Given the description of an element on the screen output the (x, y) to click on. 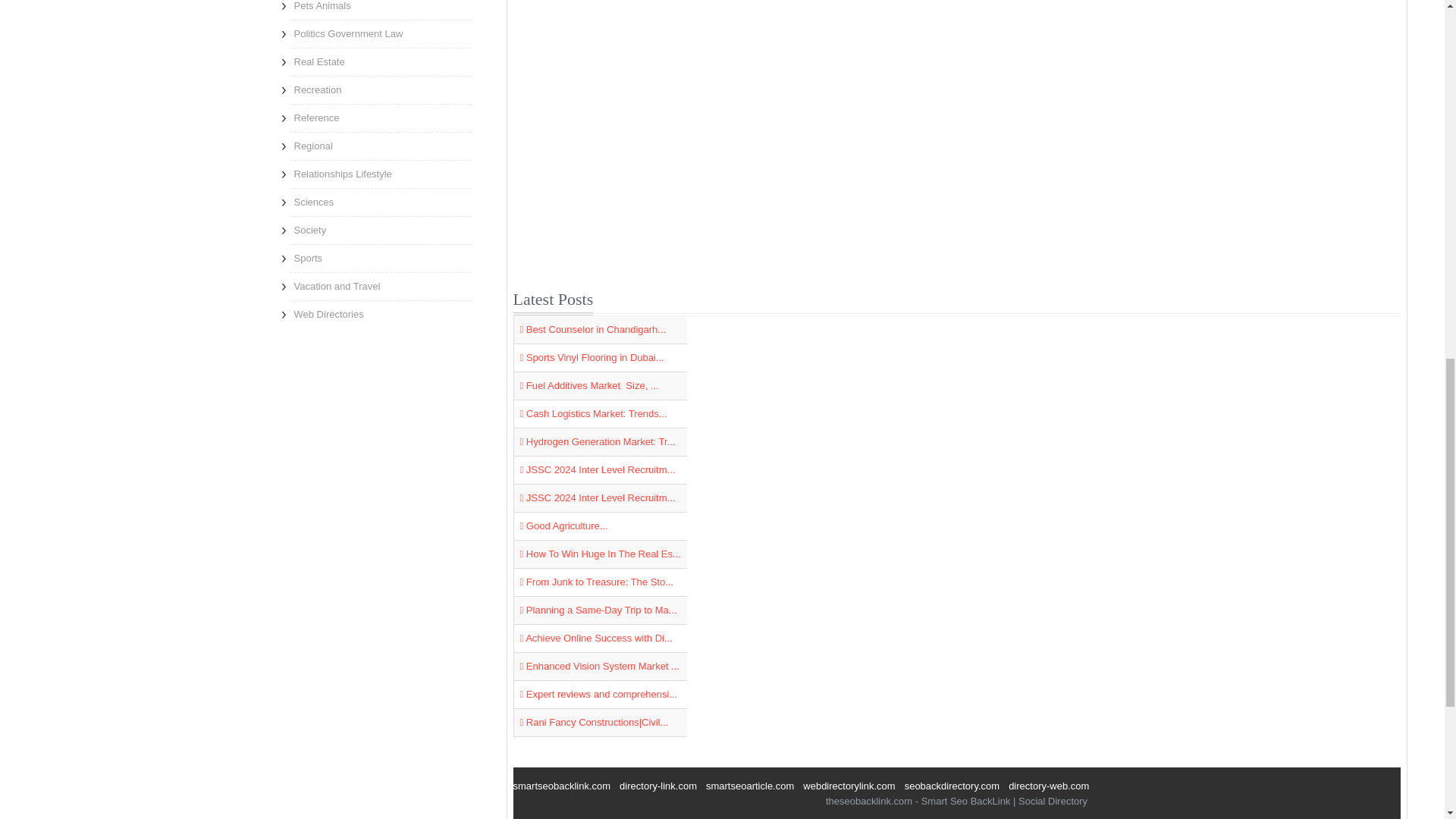
Web Directories (381, 314)
Sciences (381, 202)
Pets Animals (381, 9)
Relationships Lifestyle (381, 174)
Vacation and Travel (381, 286)
Politics Government Law (381, 33)
Reference (381, 117)
Recreation (381, 90)
Regional (381, 145)
Real Estate (381, 62)
